Given the description of an element on the screen output the (x, y) to click on. 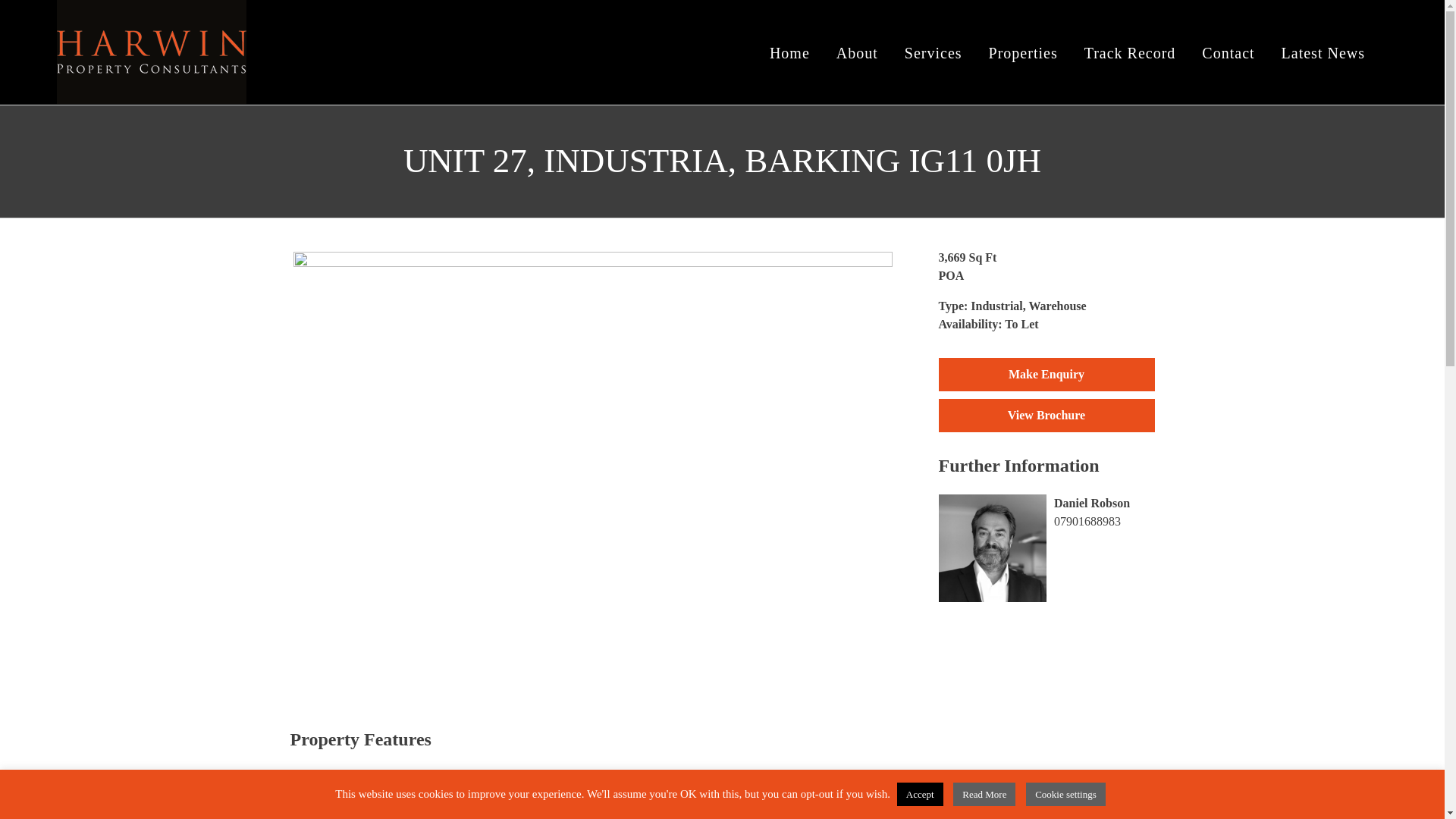
Latest News (1323, 52)
Unit 27 Internal 2 (146, 381)
About (856, 52)
Services (933, 52)
Track Record (1130, 52)
Home (789, 52)
Properties (1023, 52)
Contact (1227, 52)
